Given the description of an element on the screen output the (x, y) to click on. 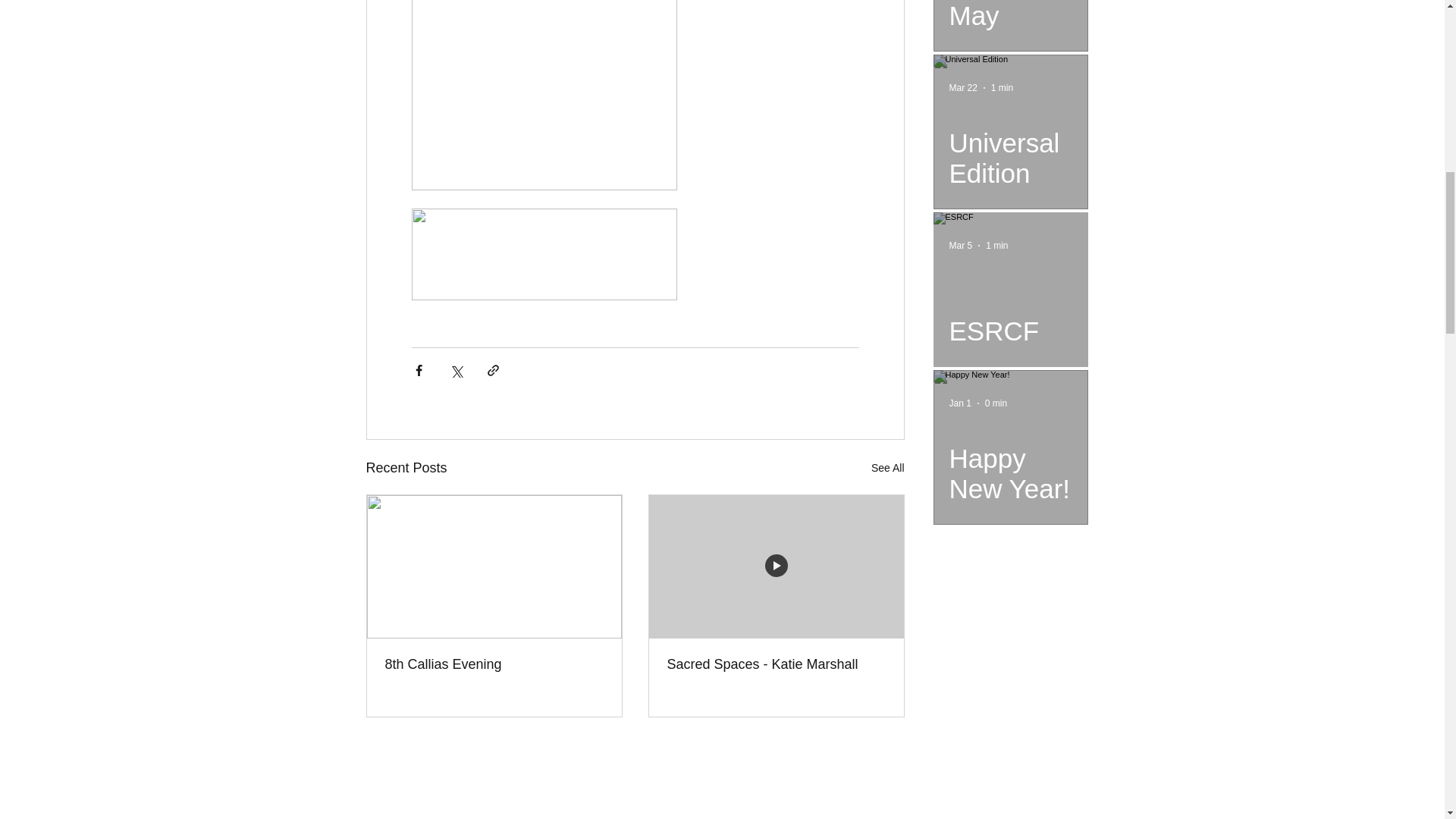
Mar 5 (960, 245)
Jan 1 (960, 403)
8th Callias Evening (494, 664)
Mar 22 (962, 87)
1 min (996, 245)
See All (887, 468)
1 min (1002, 87)
0 min (996, 403)
